Given the description of an element on the screen output the (x, y) to click on. 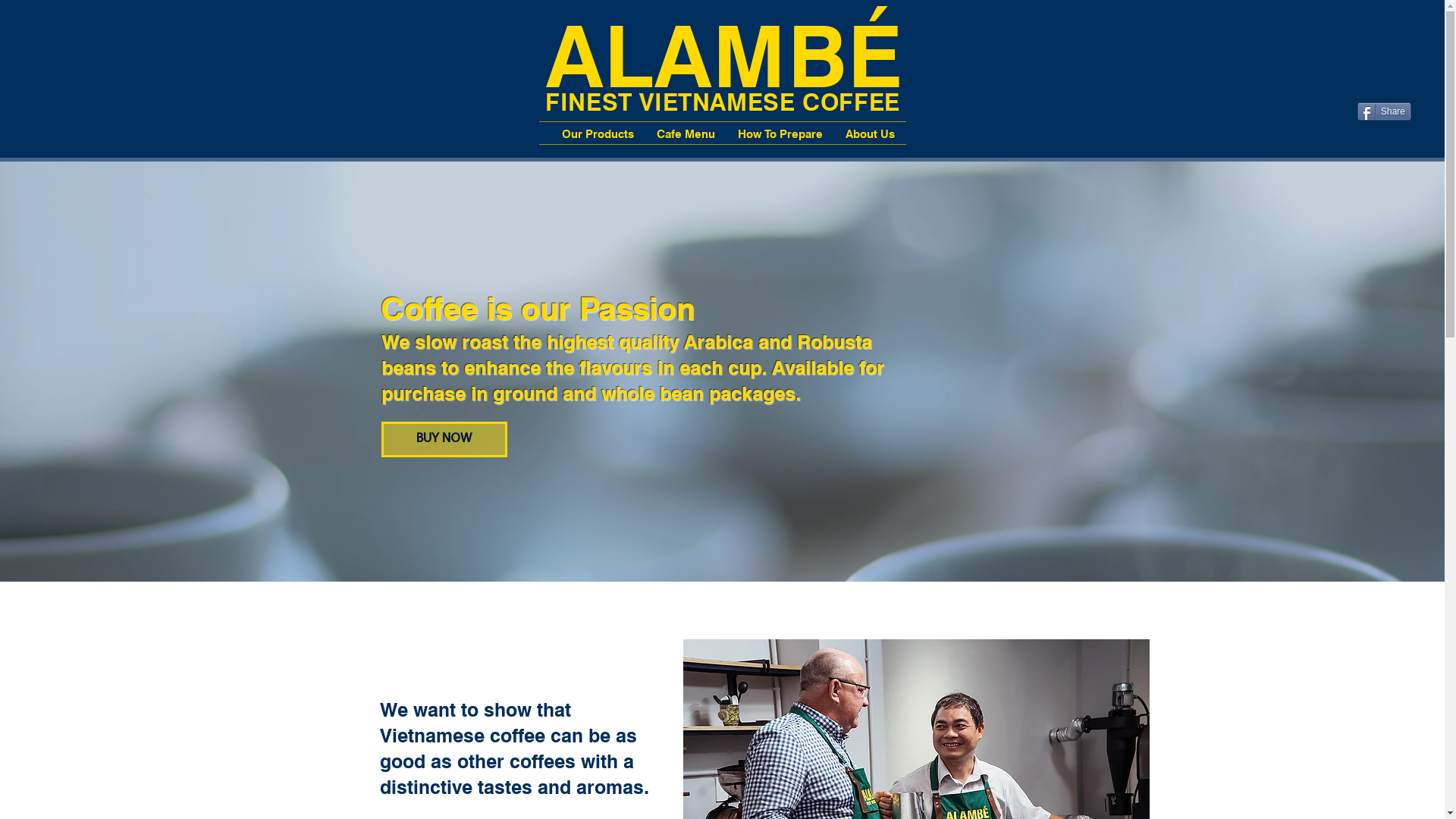
Cafe Menu Element type: text (684, 132)
BUY NOW Element type: text (443, 439)
Online Store Element type: hover (1389, 40)
FINEST VIETNAMESE COFFEE Element type: text (722, 100)
About Us Element type: text (870, 132)
Share Element type: text (1384, 111)
Facebook Like Element type: hover (1384, 90)
How To Prepare Element type: text (780, 132)
Our Products Element type: text (597, 132)
